Given the description of an element on the screen output the (x, y) to click on. 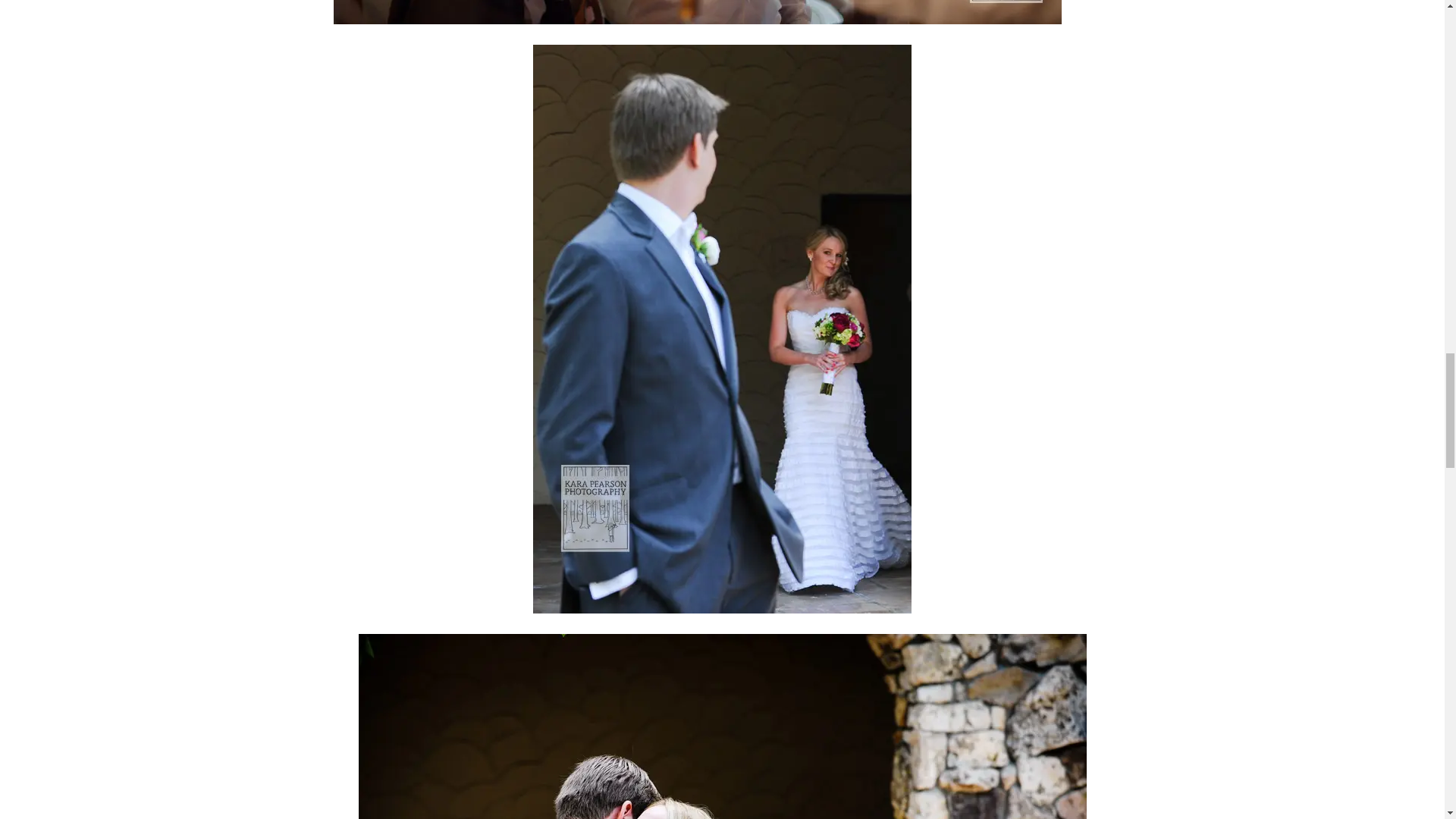
groom-get-ready (697, 12)
